Given the description of an element on the screen output the (x, y) to click on. 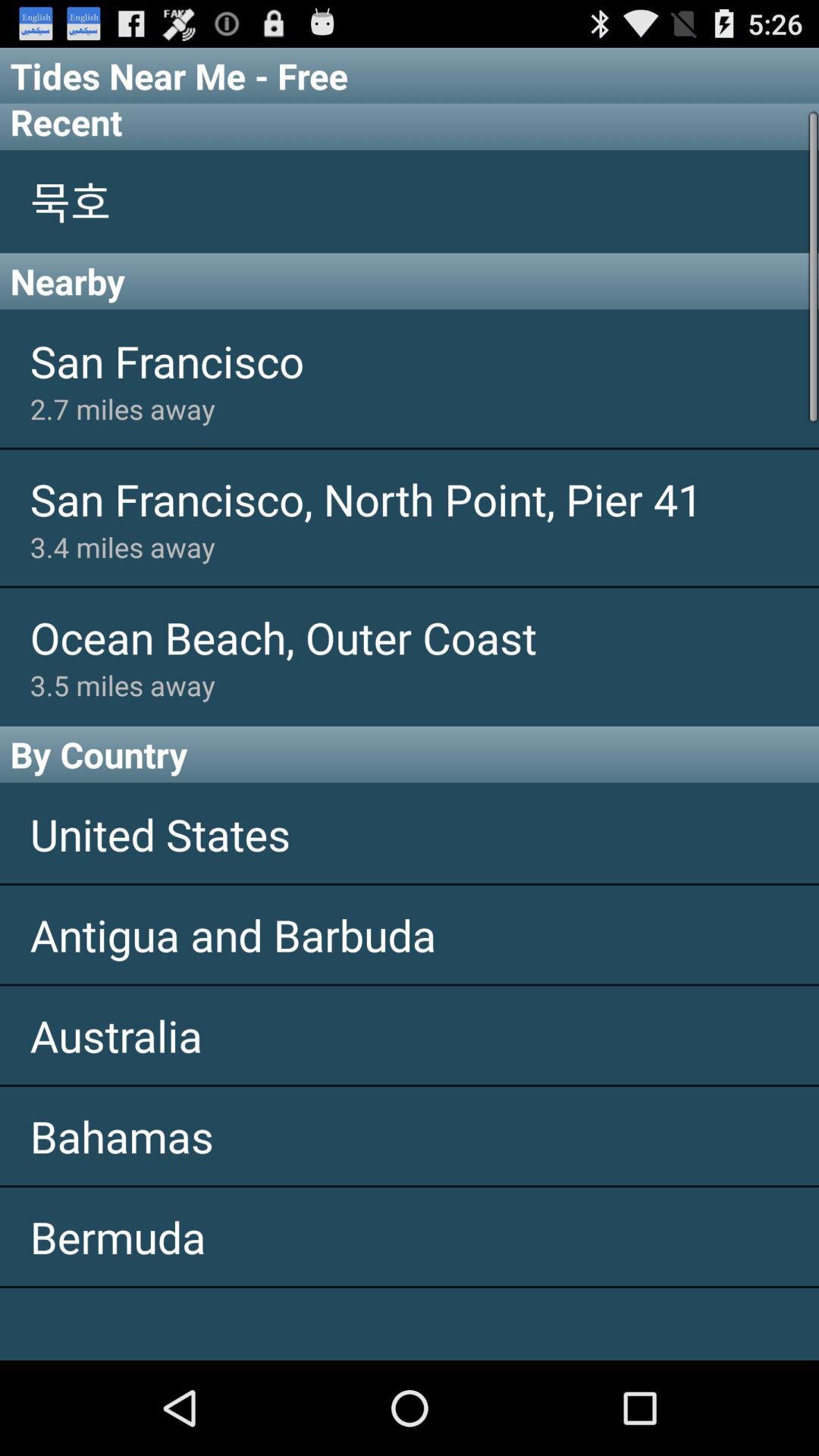
turn off icon above the san francisco app (409, 281)
